Given the description of an element on the screen output the (x, y) to click on. 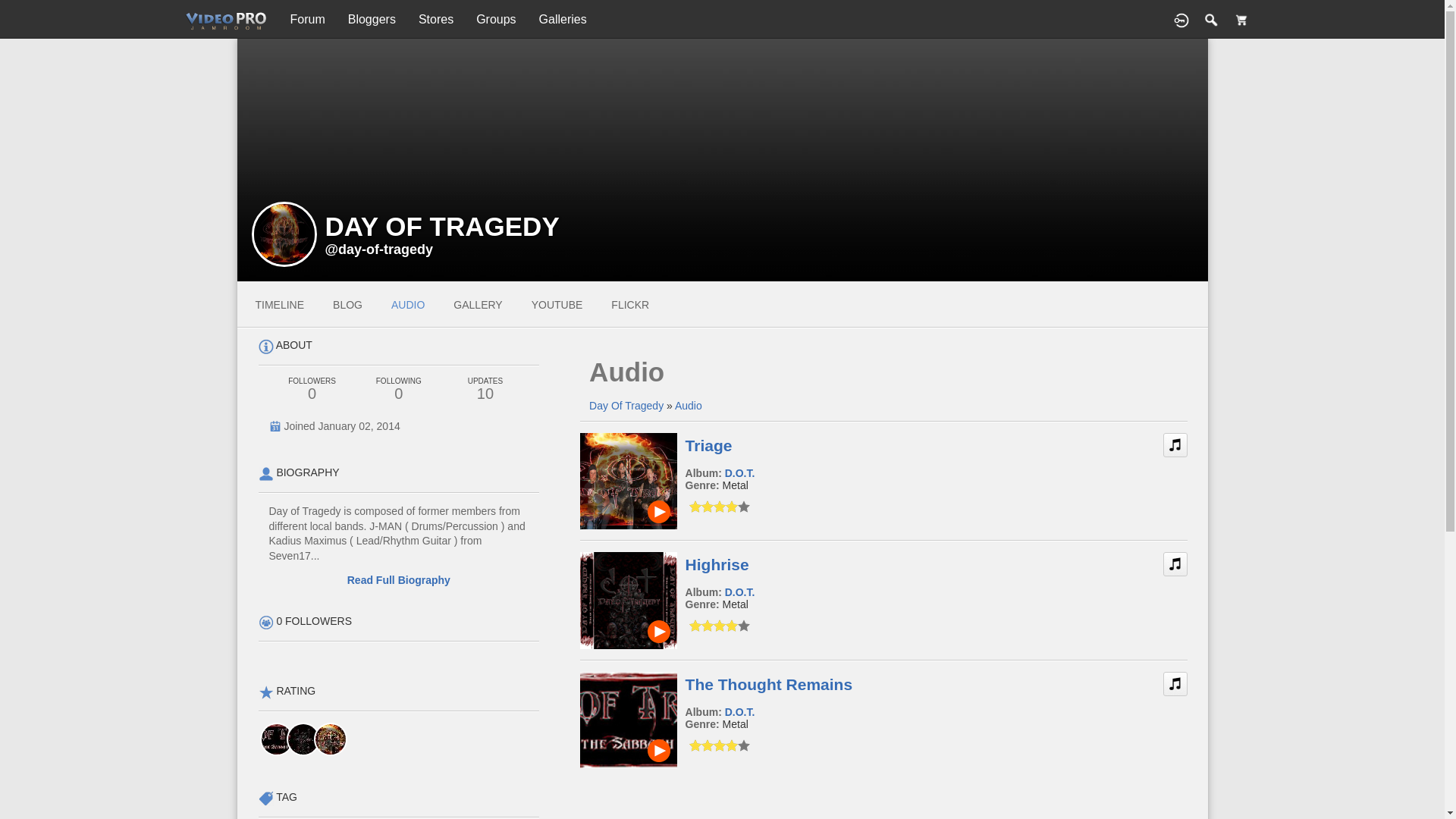
add to playlist (1175, 439)
Galleries (562, 20)
FLICKR (629, 304)
play (658, 630)
 Highrise rated a 4 (303, 738)
5 (718, 506)
play (658, 511)
Log In (1181, 20)
2 (700, 506)
4 (713, 506)
AUDIO (408, 304)
Groups (495, 20)
2 (700, 625)
The Thought Remains rated a 4 (275, 738)
Day Of Tragedy (626, 405)
